Given the description of an element on the screen output the (x, y) to click on. 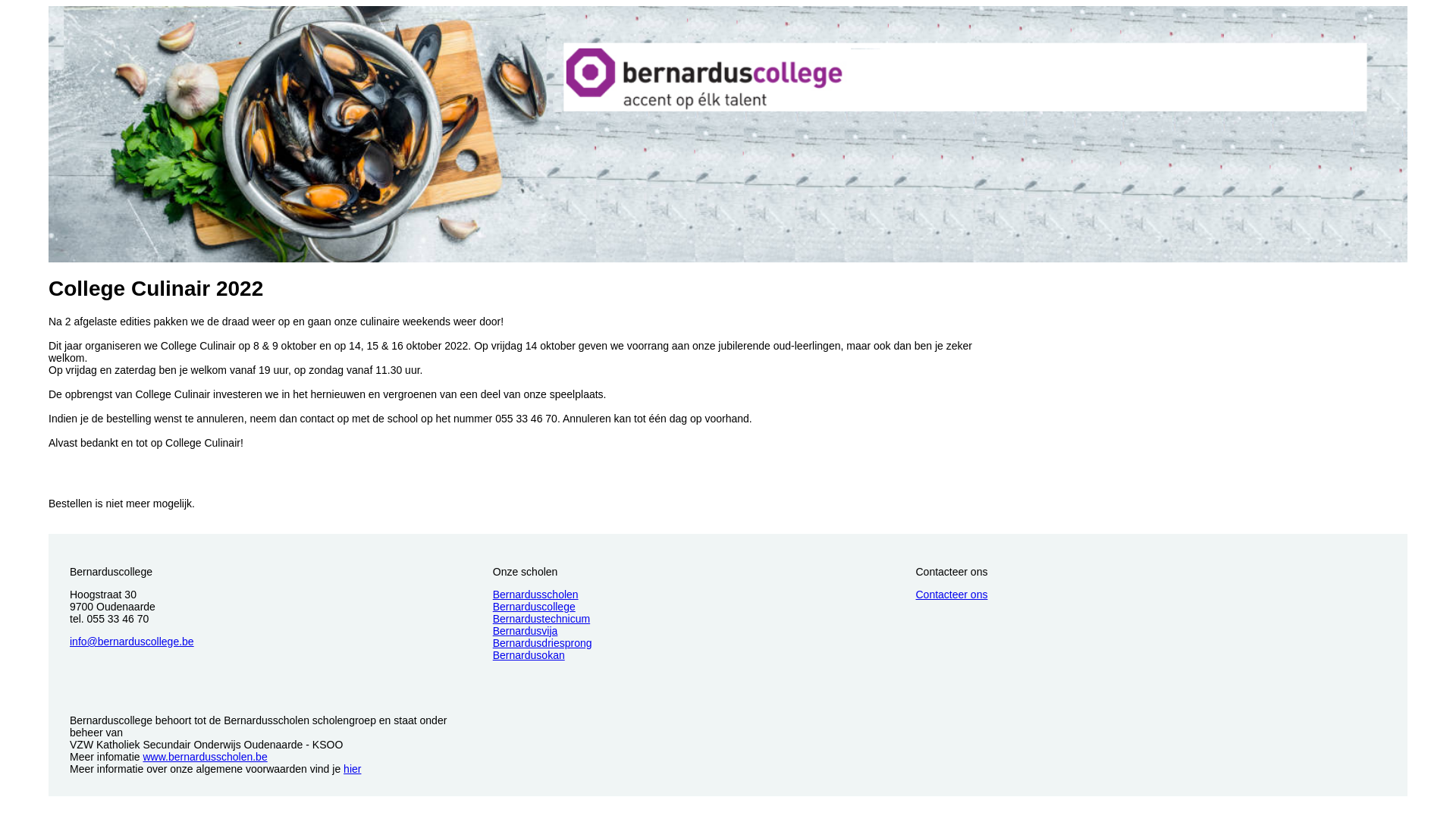
hier Element type: text (351, 768)
info@bernarduscollege.be Element type: text (131, 641)
Contacteer ons Element type: text (952, 594)
Bernardustechnicum Element type: text (540, 618)
Bernardusokan Element type: text (528, 655)
Bernarduscollege Element type: text (533, 606)
www.bernardusscholen.be Element type: text (204, 756)
Bernardusscholen Element type: text (535, 594)
Bernardusdriesprong Element type: text (542, 643)
Bernardusvija Element type: text (525, 630)
